Given the description of an element on the screen output the (x, y) to click on. 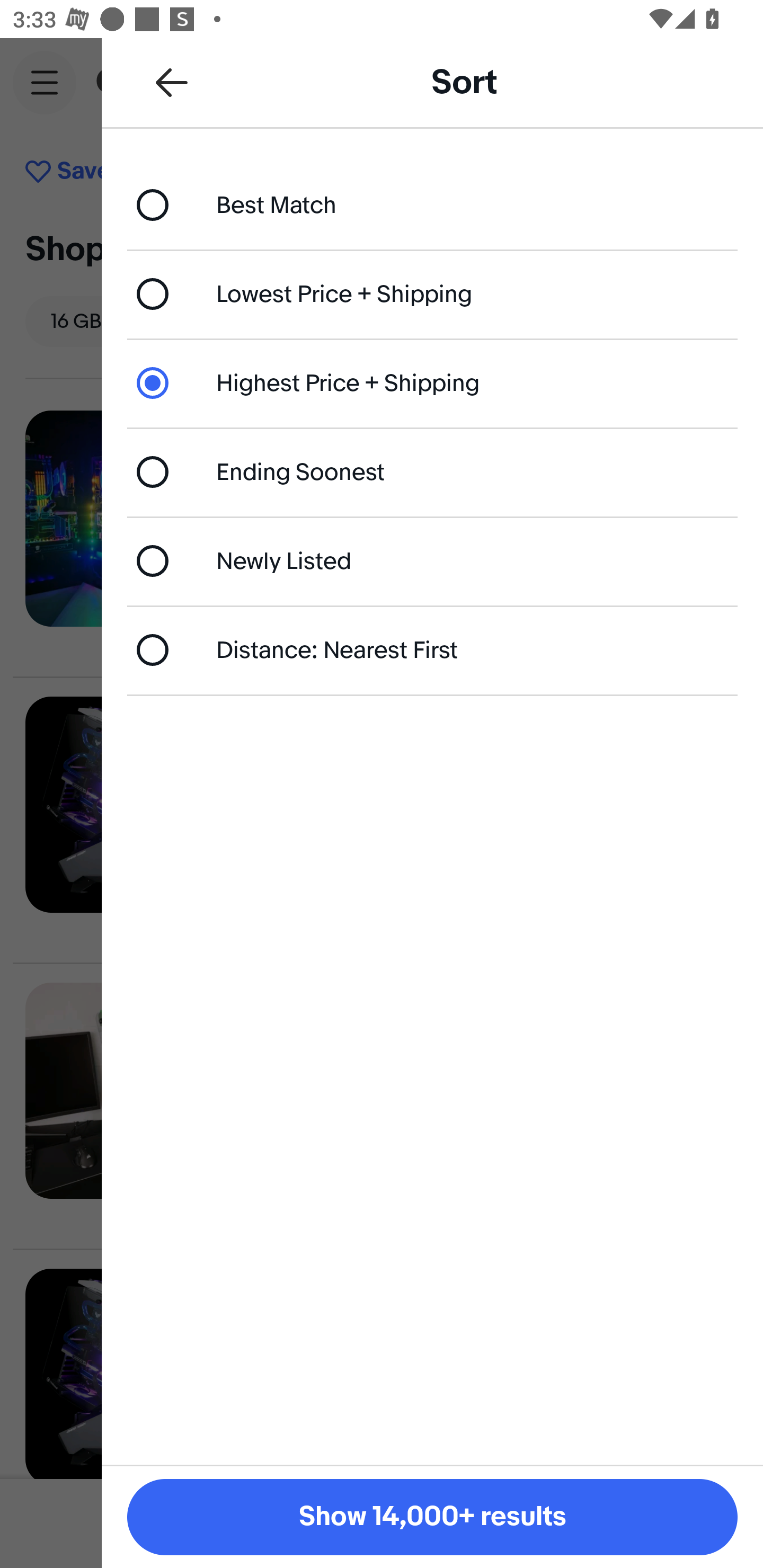
Back to all refinements (171, 81)
Best Match (432, 204)
Lowest Price + Shipping (432, 293)
Ending Soonest (432, 471)
Newly Listed (432, 560)
Distance: Nearest First (432, 649)
Show 14,000+ results (432, 1516)
